Given the description of an element on the screen output the (x, y) to click on. 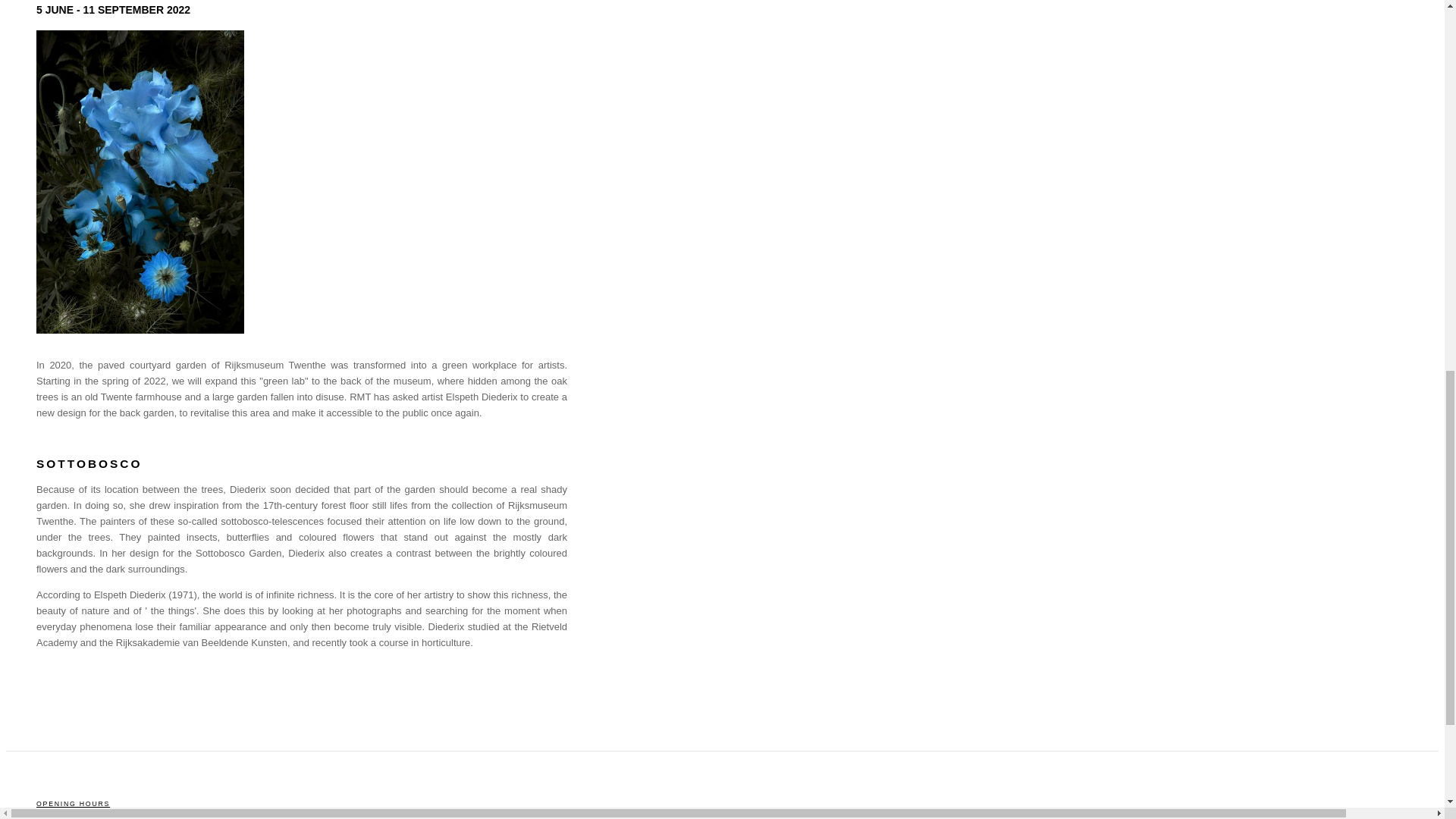
OPENING HOURS (73, 803)
